Given the description of an element on the screen output the (x, y) to click on. 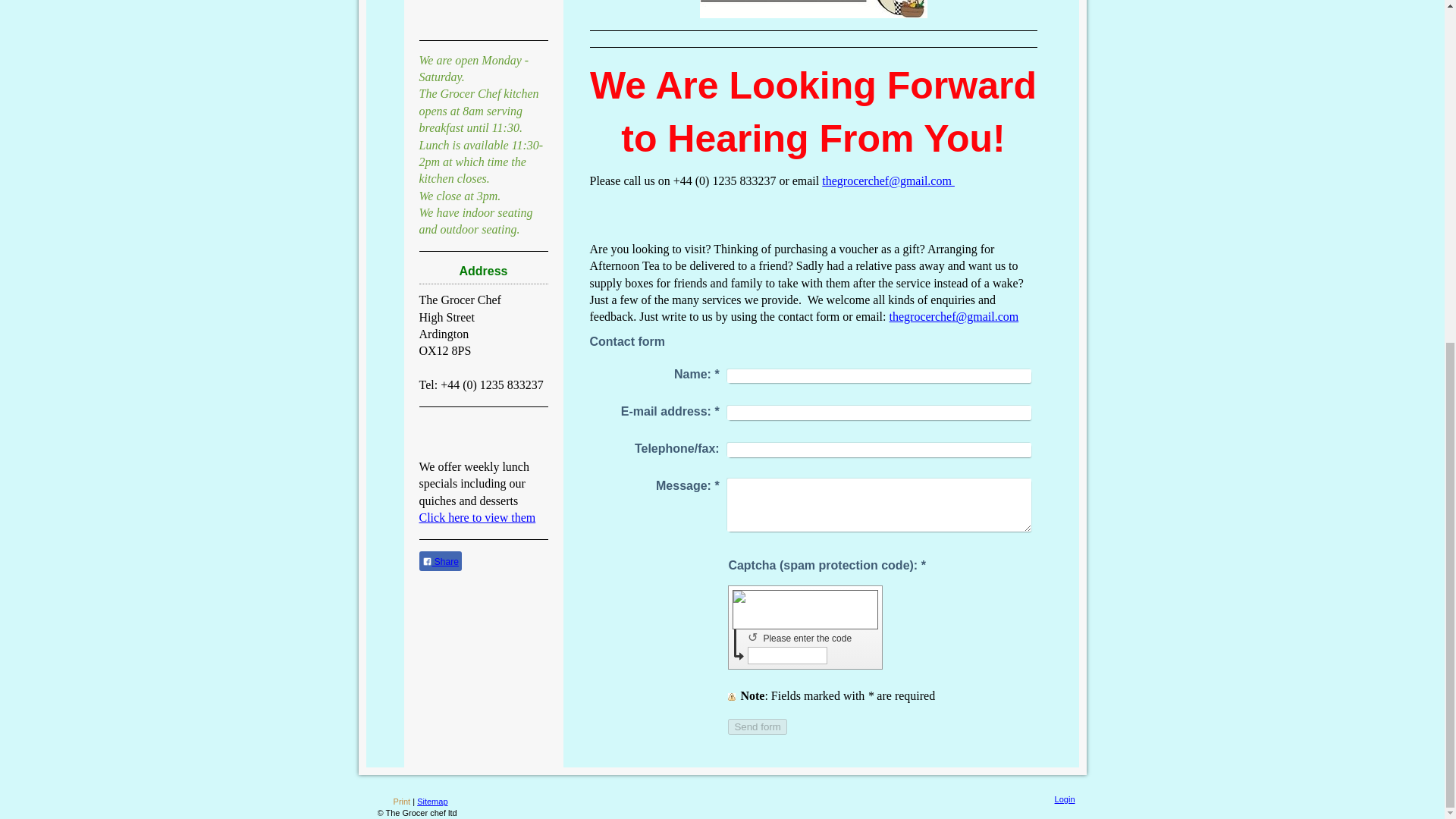
Send form (757, 726)
Login (1064, 798)
Print (395, 800)
Click here to view them (477, 517)
Send form (757, 726)
Generate new code (755, 636)
Sitemap (431, 800)
Share (440, 560)
